Given the description of an element on the screen output the (x, y) to click on. 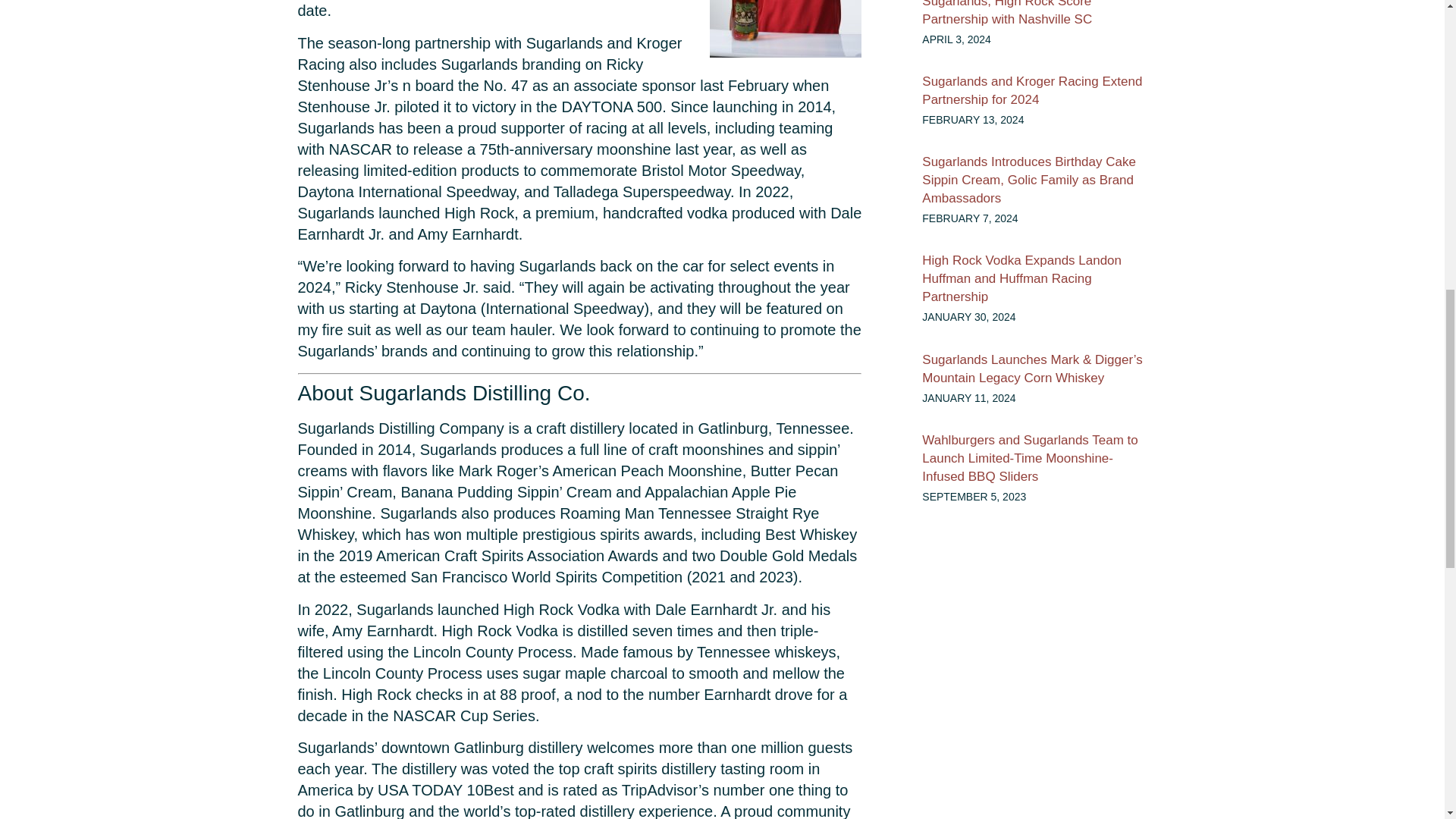
Sugarlands and Kroger Racing Extend Partnership for 2024 (1031, 90)
Sugarlands, High Rock Score Partnership with Nashville SC (1006, 13)
